Given the description of an element on the screen output the (x, y) to click on. 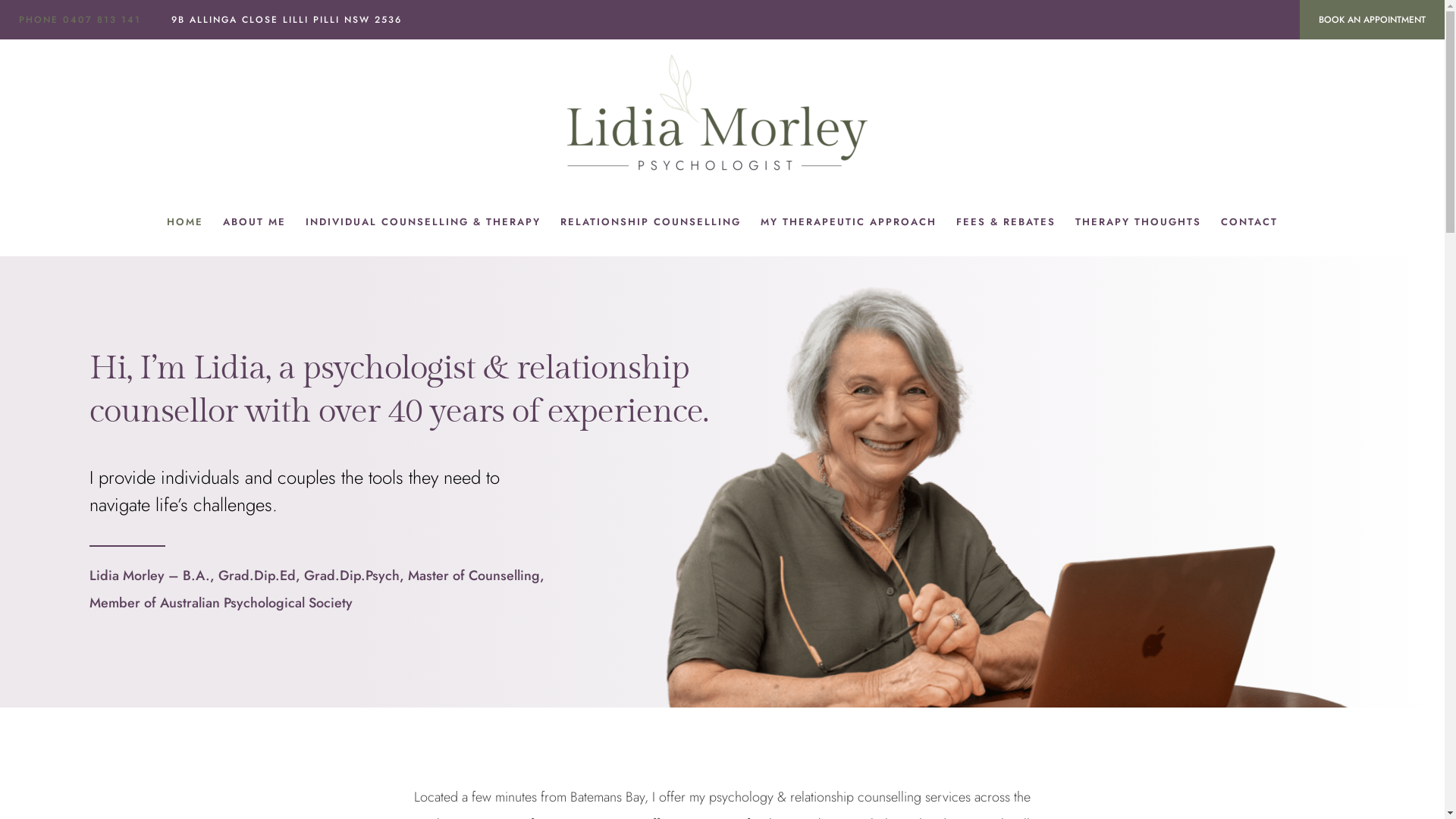
9B ALLINGA CLOSE LILLI PILLI NSW 2536 Element type: text (286, 19)
ABOUT ME Element type: text (254, 222)
FEES & REBATES Element type: text (1005, 222)
RELATIONSHIP COUNSELLING Element type: text (650, 222)
CONTACT Element type: text (1249, 222)
MY THERAPEUTIC APPROACH Element type: text (848, 222)
INDIVIDUAL COUNSELLING & THERAPY Element type: text (422, 222)
PHONE 0407 813 141 Element type: text (78, 19)
HOME Element type: text (184, 222)
THERAPY THOUGHTS Element type: text (1138, 222)
BOOK AN APPOINTMENT Element type: text (1371, 19)
